Given the description of an element on the screen output the (x, y) to click on. 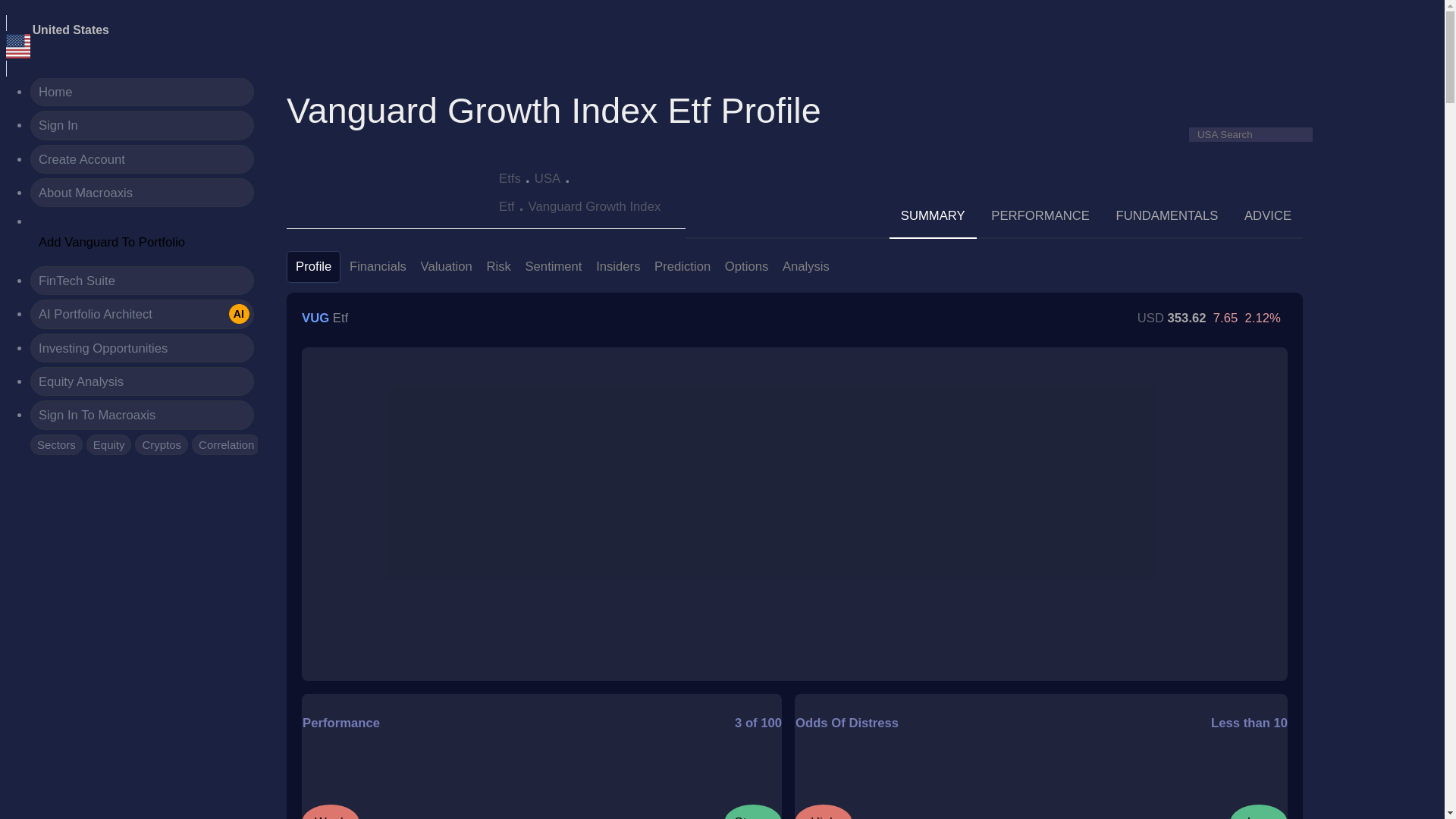
Cryptos (161, 444)
Select Your Market (70, 29)
United States (17, 46)
Sectors (56, 444)
United States (70, 29)
FinTech Suite (141, 280)
Sign In To Macroaxis (141, 414)
About Macroaxis (141, 192)
Equity Analysis (141, 380)
Create Account (141, 158)
Investing Opportunities (141, 347)
Equity (108, 444)
Correlation (226, 444)
Add Vanguard To Portfolio (111, 241)
Sign In (141, 124)
